Given the description of an element on the screen output the (x, y) to click on. 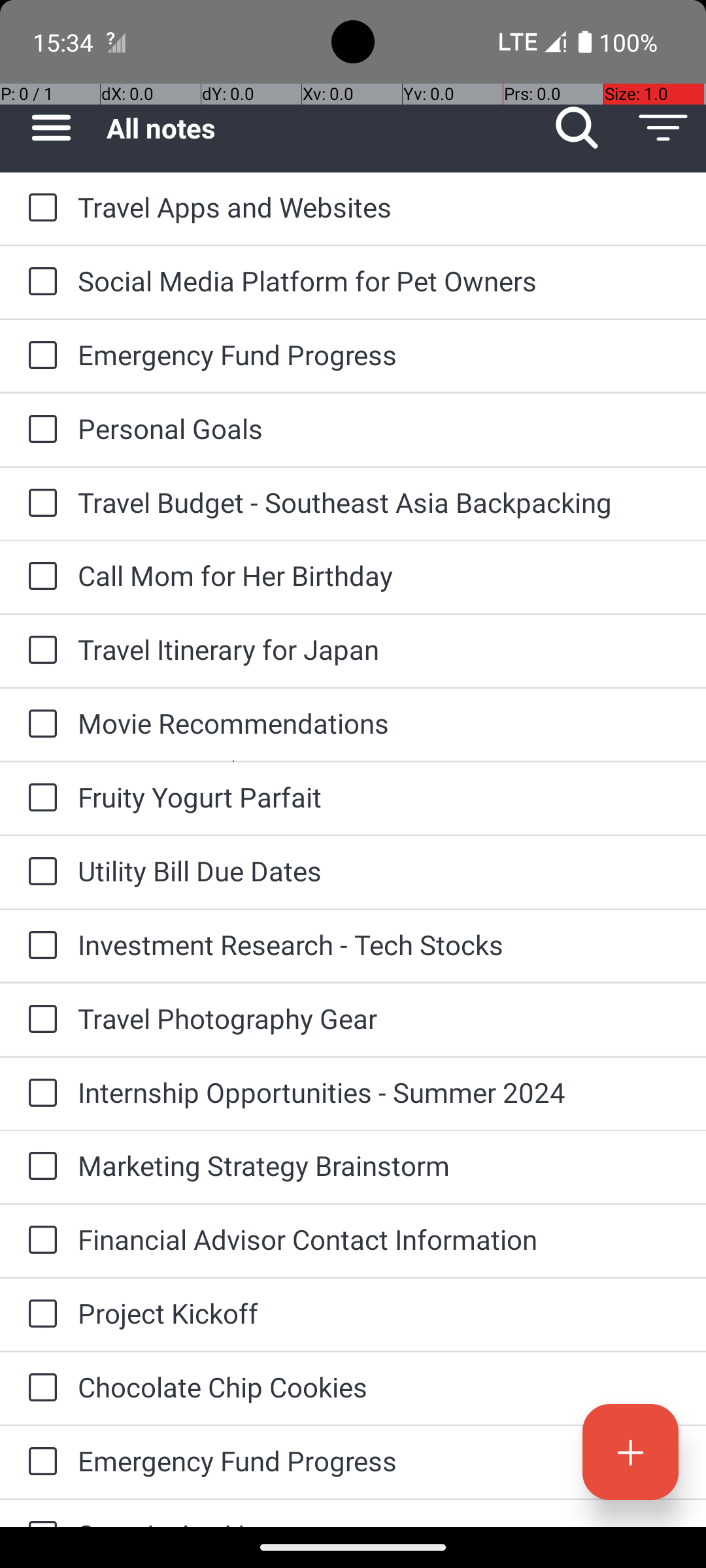
to-do: Travel Apps and Websites Element type: android.widget.CheckBox (38, 208)
Travel Apps and Websites Element type: android.widget.TextView (378, 206)
to-do: Social Media Platform for Pet Owners Element type: android.widget.CheckBox (38, 282)
to-do: Emergency Fund Progress Element type: android.widget.CheckBox (38, 356)
Emergency Fund Progress Element type: android.widget.TextView (378, 354)
to-do: Personal Goals Element type: android.widget.CheckBox (38, 429)
Personal Goals Element type: android.widget.TextView (378, 427)
to-do: Travel Budget - Southeast Asia Backpacking Element type: android.widget.CheckBox (38, 503)
Travel Budget - Southeast Asia Backpacking Element type: android.widget.TextView (378, 501)
to-do: Call Mom for Her Birthday Element type: android.widget.CheckBox (38, 576)
Call Mom for Her Birthday Element type: android.widget.TextView (378, 574)
to-do: Travel Itinerary for Japan Element type: android.widget.CheckBox (38, 650)
Travel Itinerary for Japan Element type: android.widget.TextView (378, 648)
to-do: Movie Recommendations Element type: android.widget.CheckBox (38, 724)
Movie Recommendations Element type: android.widget.TextView (378, 722)
to-do: Fruity Yogurt Parfait Element type: android.widget.CheckBox (38, 798)
Fruity Yogurt Parfait Element type: android.widget.TextView (378, 796)
to-do: Utility Bill Due Dates Element type: android.widget.CheckBox (38, 872)
Utility Bill Due Dates Element type: android.widget.TextView (378, 870)
to-do: Investment Research - Tech Stocks Element type: android.widget.CheckBox (38, 945)
Investment Research - Tech Stocks Element type: android.widget.TextView (378, 944)
to-do: Travel Photography Gear Element type: android.widget.CheckBox (38, 1019)
Travel Photography Gear Element type: android.widget.TextView (378, 1017)
to-do: Internship Opportunities - Summer 2024 Element type: android.widget.CheckBox (38, 1093)
Internship Opportunities - Summer 2024 Element type: android.widget.TextView (378, 1091)
to-do: Marketing Strategy Brainstorm Element type: android.widget.CheckBox (38, 1166)
Marketing Strategy Brainstorm Element type: android.widget.TextView (378, 1164)
to-do: Project Kickoff Element type: android.widget.CheckBox (38, 1314)
Project Kickoff Element type: android.widget.TextView (378, 1312)
to-do: Chocolate Chip Cookies Element type: android.widget.CheckBox (38, 1388)
Chocolate Chip Cookies Element type: android.widget.TextView (378, 1386)
to-do: Song Lyrics I Love Element type: android.widget.CheckBox (38, 1513)
Song Lyrics I Love Element type: android.widget.TextView (378, 1520)
